Given the description of an element on the screen output the (x, y) to click on. 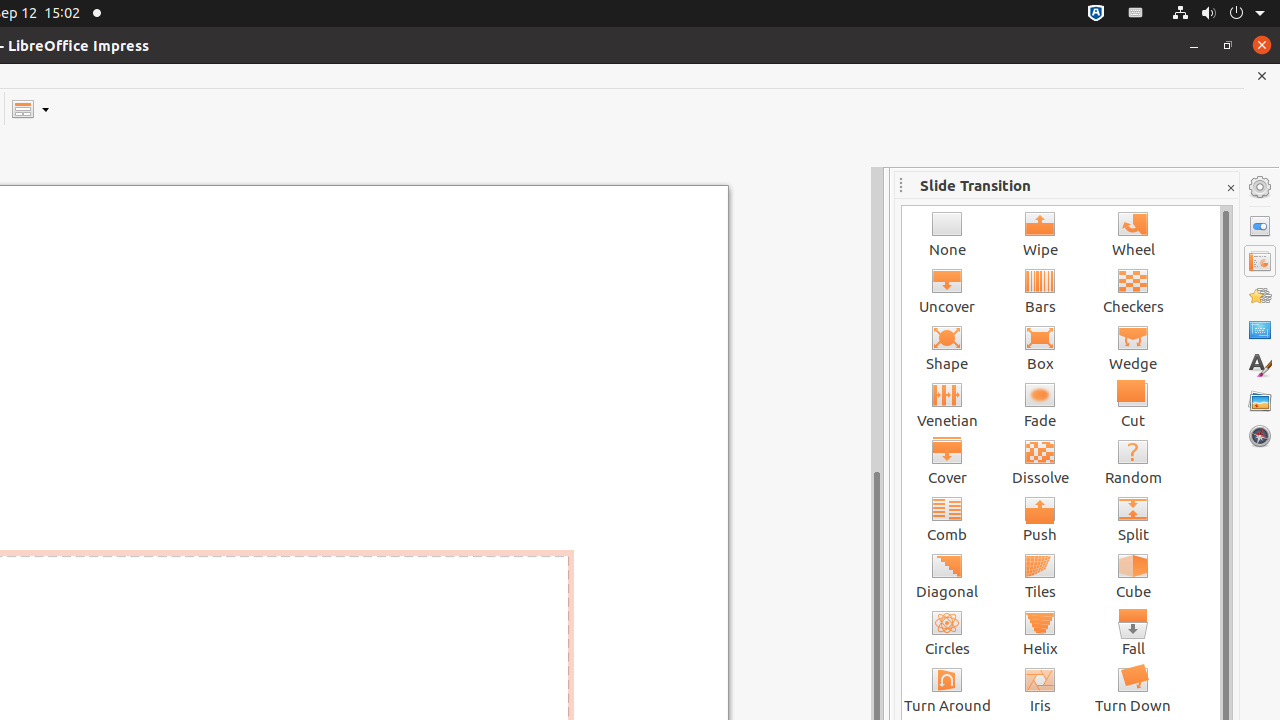
Slide Layout Element type: push-button (30, 108)
Fade Element type: list-item (1040, 404)
Split Element type: list-item (1133, 518)
Box Element type: list-item (1040, 347)
Slide Transition Element type: radio-button (1260, 261)
